Given the description of an element on the screen output the (x, y) to click on. 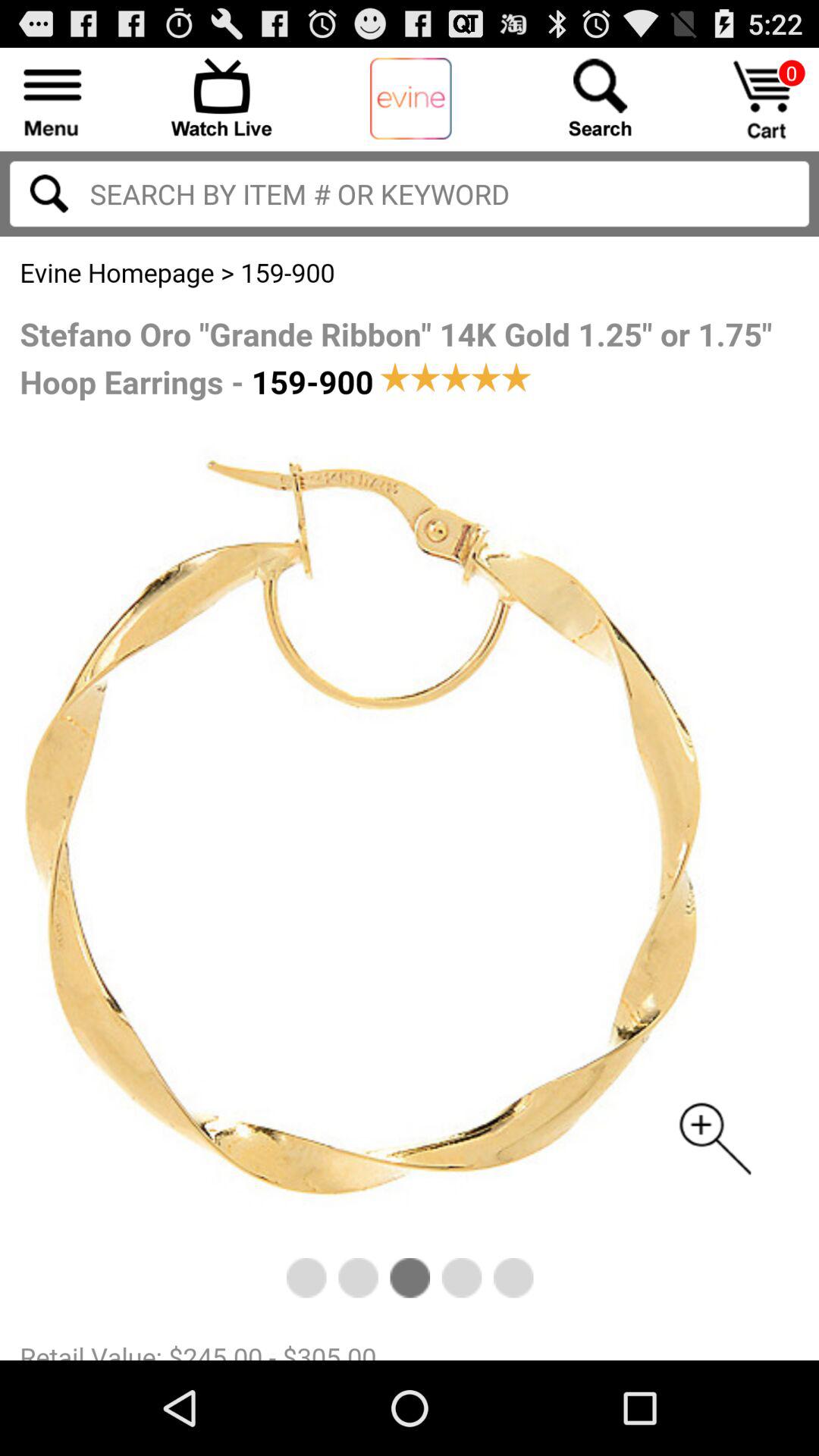
search (599, 97)
